Given the description of an element on the screen output the (x, y) to click on. 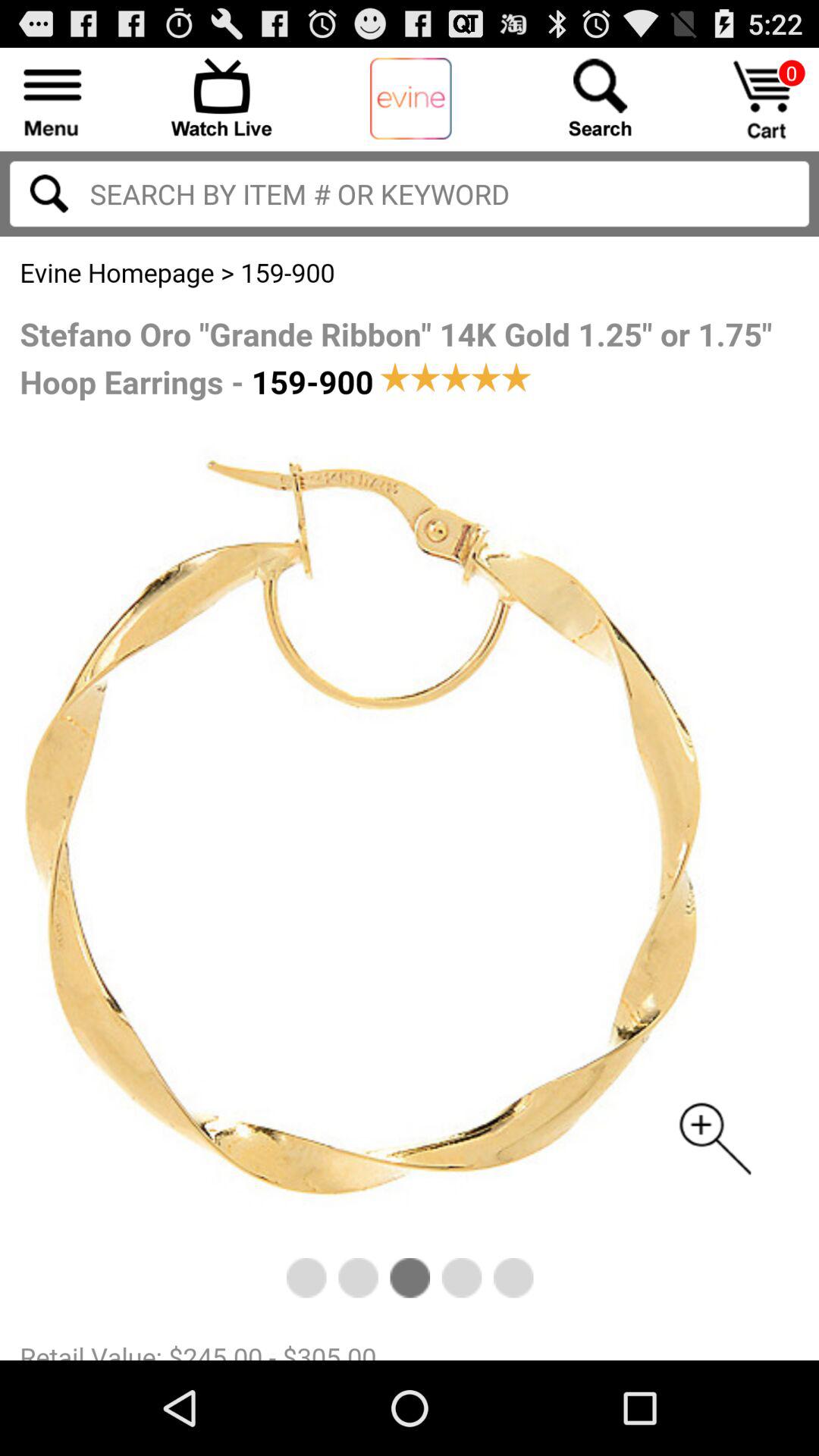
search (599, 97)
